Given the description of an element on the screen output the (x, y) to click on. 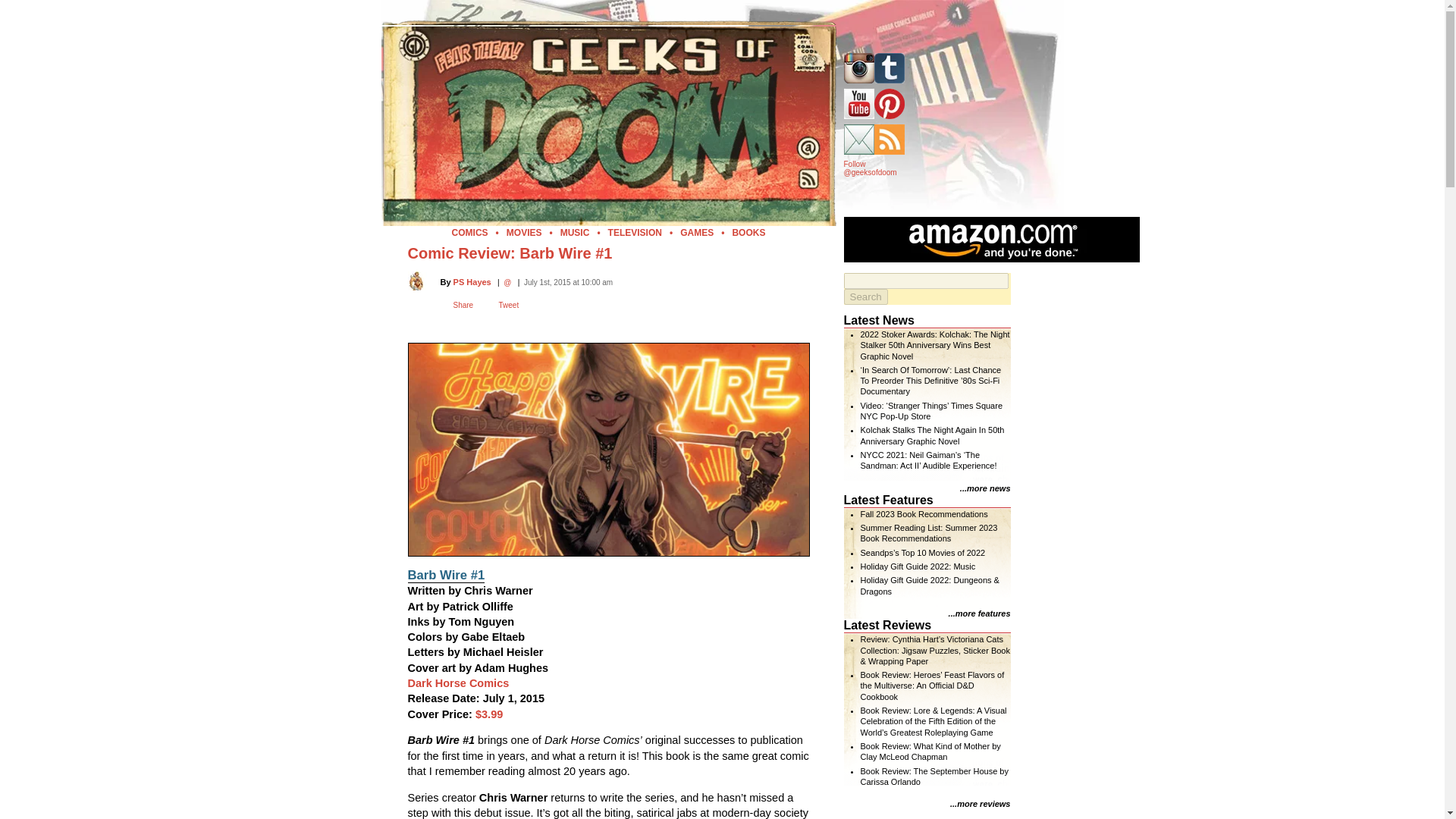
Search (864, 296)
Follow PS Hayes on Twitter (507, 281)
Tweet (509, 305)
View PS Hayes's profile (472, 281)
GAMES (696, 232)
COMICS (469, 232)
Dark Horse Comics (458, 683)
BOOKS (748, 232)
Dark Horse Comics (458, 683)
MOVIES (523, 232)
